Given the description of an element on the screen output the (x, y) to click on. 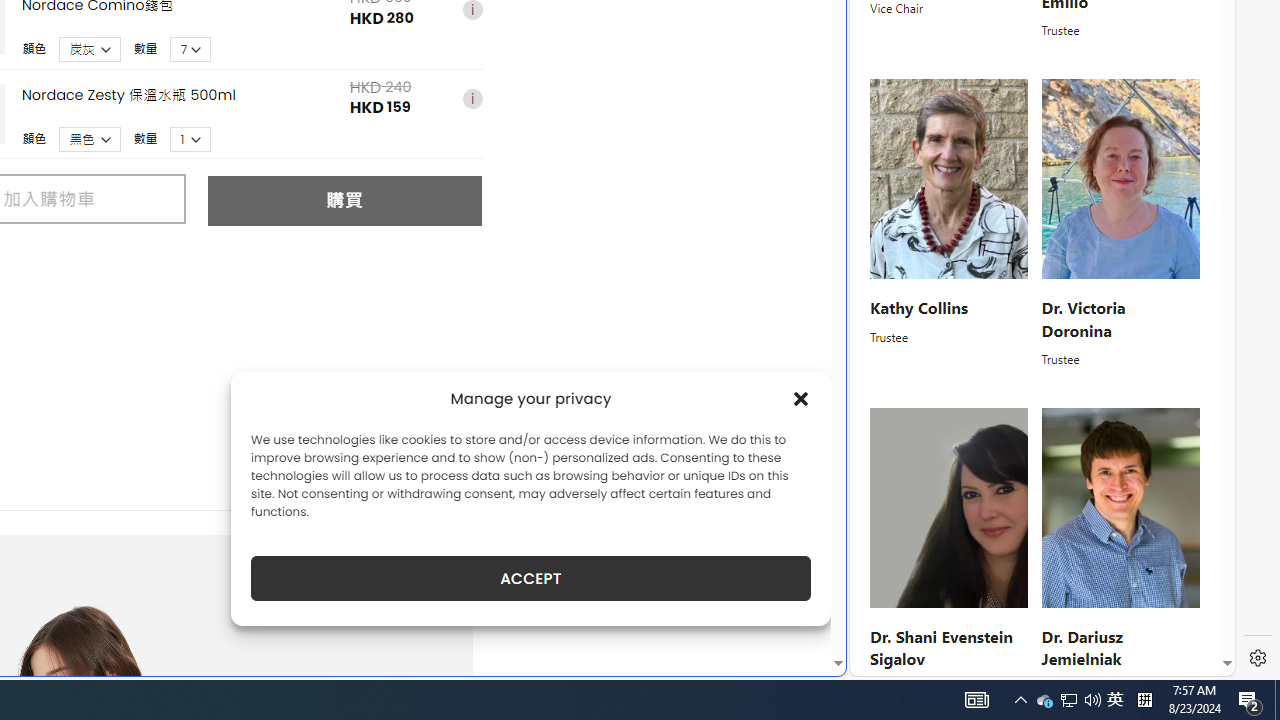
Dr. Shani Evenstein SigalovTrustee (949, 552)
Dr. Victoria Doronina (1082, 318)
Class: cmplz-close (801, 398)
Shani Evenstein (949, 508)
Kathy Collins (918, 307)
Kathy CollinsTrustee (949, 223)
Victoria Doronina in 2021 (1120, 179)
i (472, 99)
Class: upsell-v2-product-upsell-variable-product-qty-select (191, 139)
